Given the description of an element on the screen output the (x, y) to click on. 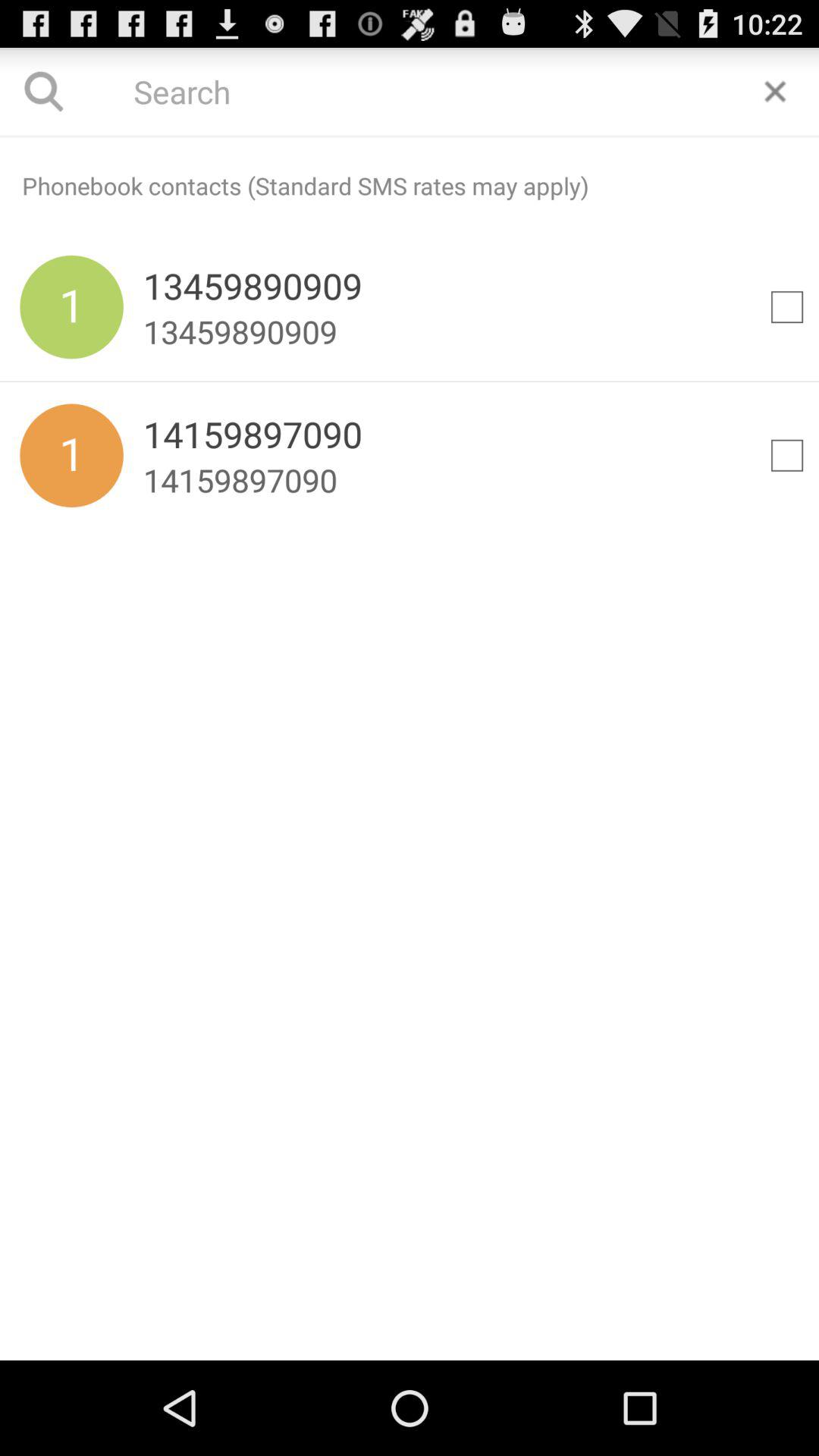
write search terms (409, 136)
